Given the description of an element on the screen output the (x, y) to click on. 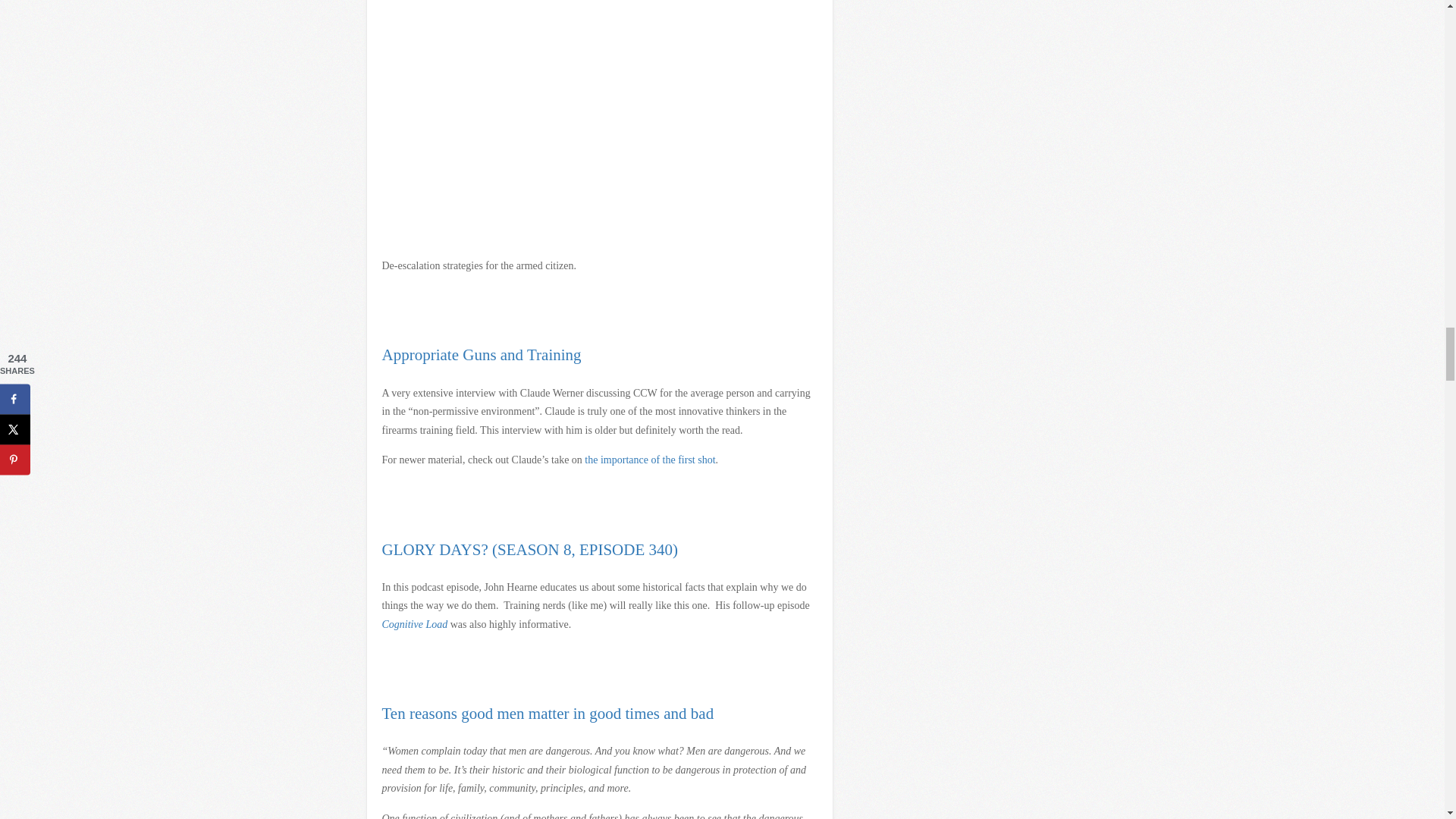
the importance of the first shot (649, 460)
Ten reasons good men matter in good times and bad (547, 713)
Cognitive Load (414, 624)
YouTube video player (593, 119)
Appropriate Guns and Training (480, 354)
